Given the description of an element on the screen output the (x, y) to click on. 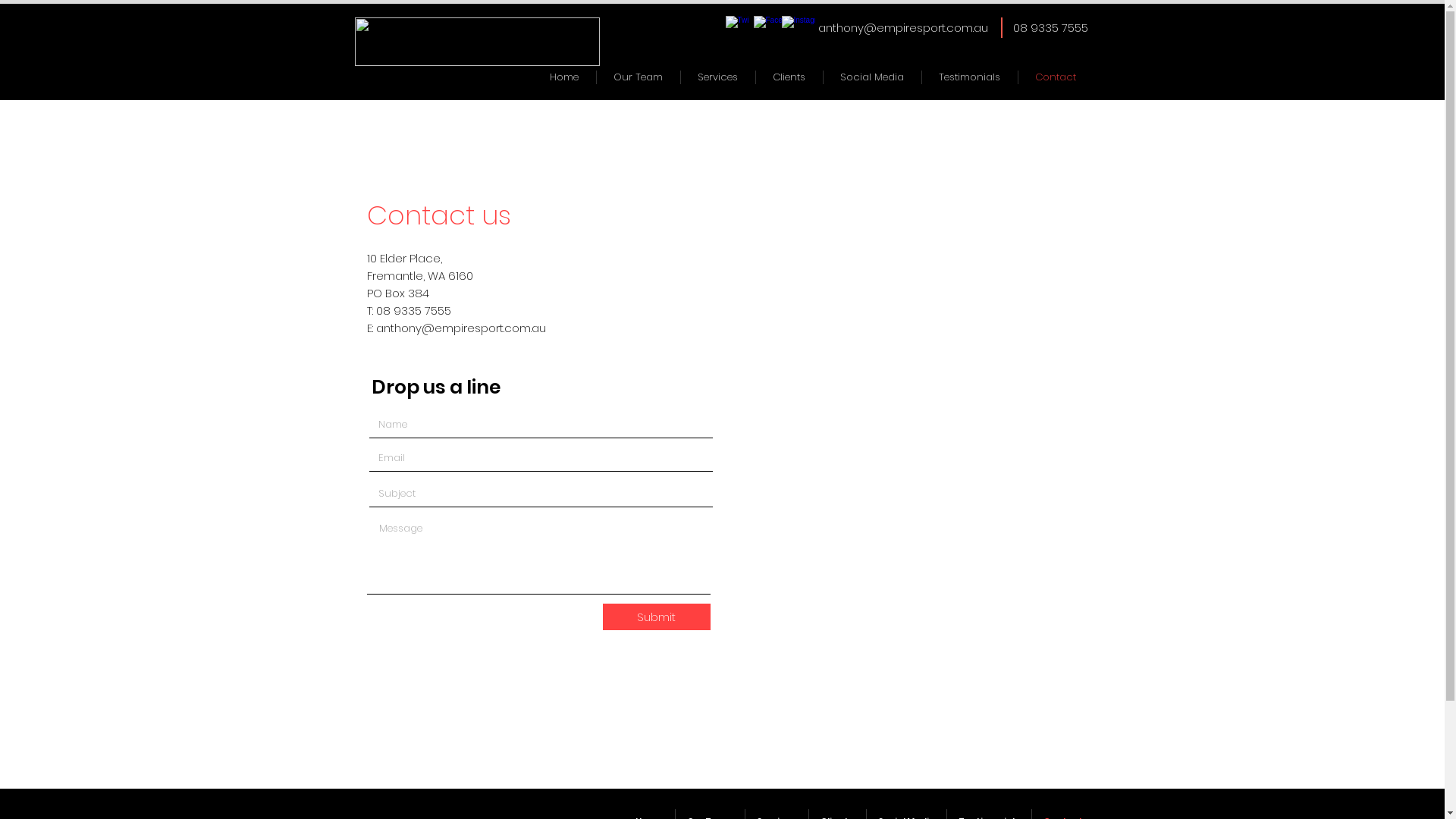
Contact Element type: text (1054, 77)
empire sport man-Artboard 1 copy.png Element type: hover (476, 41)
anthony@empiresport.com.au Element type: text (461, 327)
anthony@empiresport.com.au Element type: text (902, 27)
Clients Element type: text (788, 77)
Social Media Element type: text (872, 77)
Home Element type: text (563, 77)
Services Element type: text (717, 77)
Submit Element type: text (655, 616)
Our Team Element type: text (637, 77)
Testimonials Element type: text (969, 77)
